Given the description of an element on the screen output the (x, y) to click on. 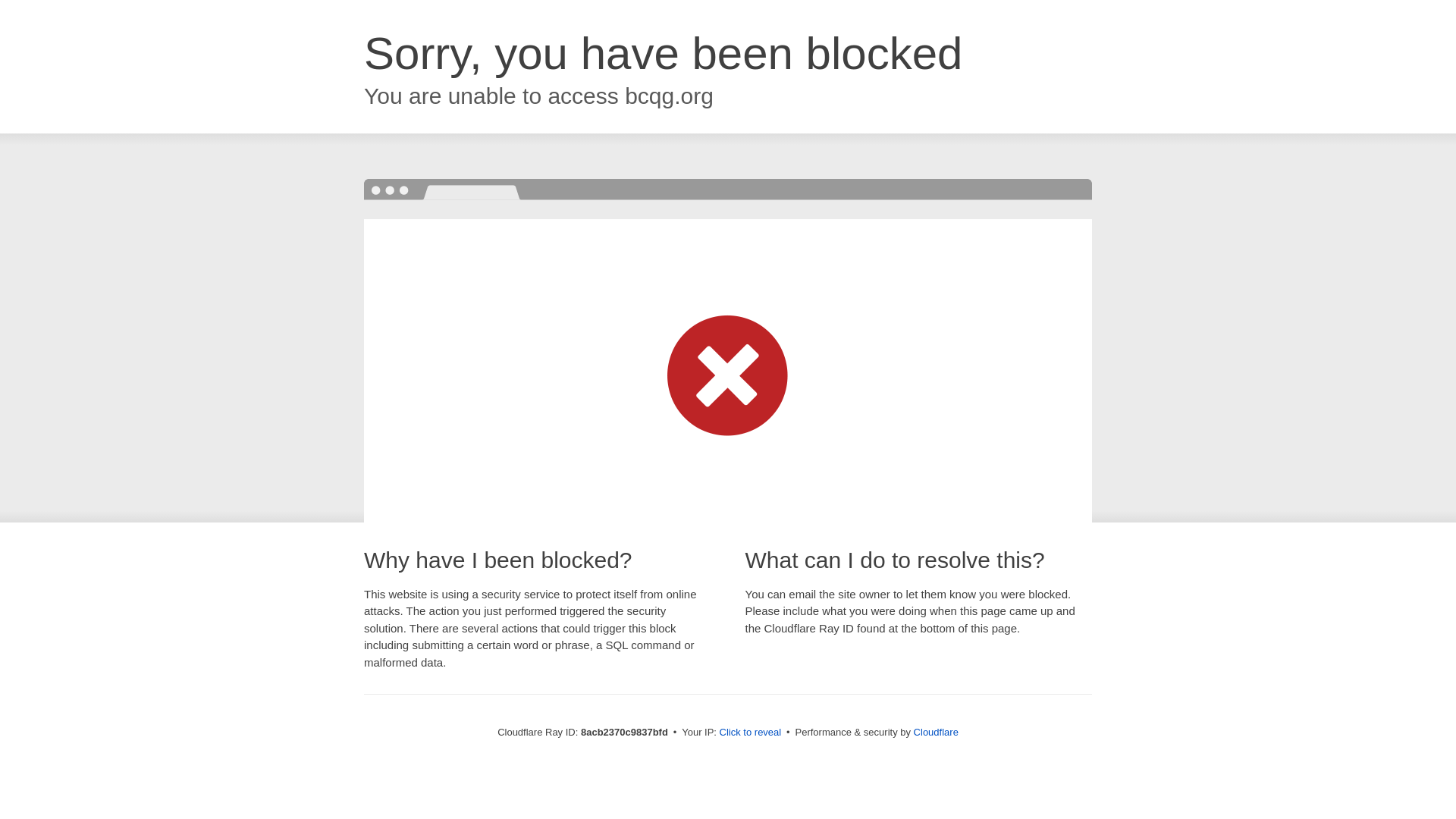
Cloudflare (936, 731)
Click to reveal (750, 732)
